Given the description of an element on the screen output the (x, y) to click on. 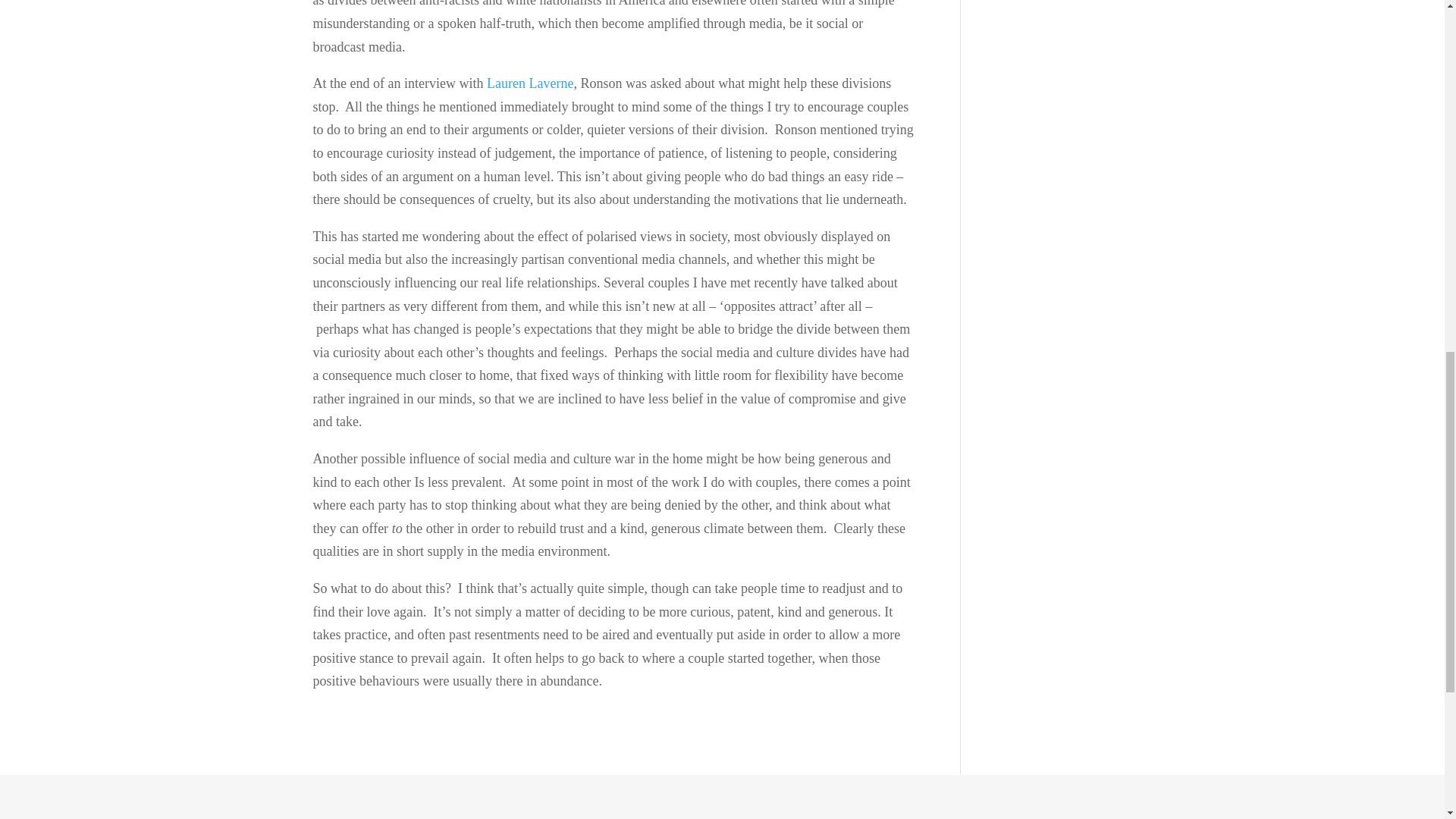
Lauren Laverne (529, 83)
